Given the description of an element on the screen output the (x, y) to click on. 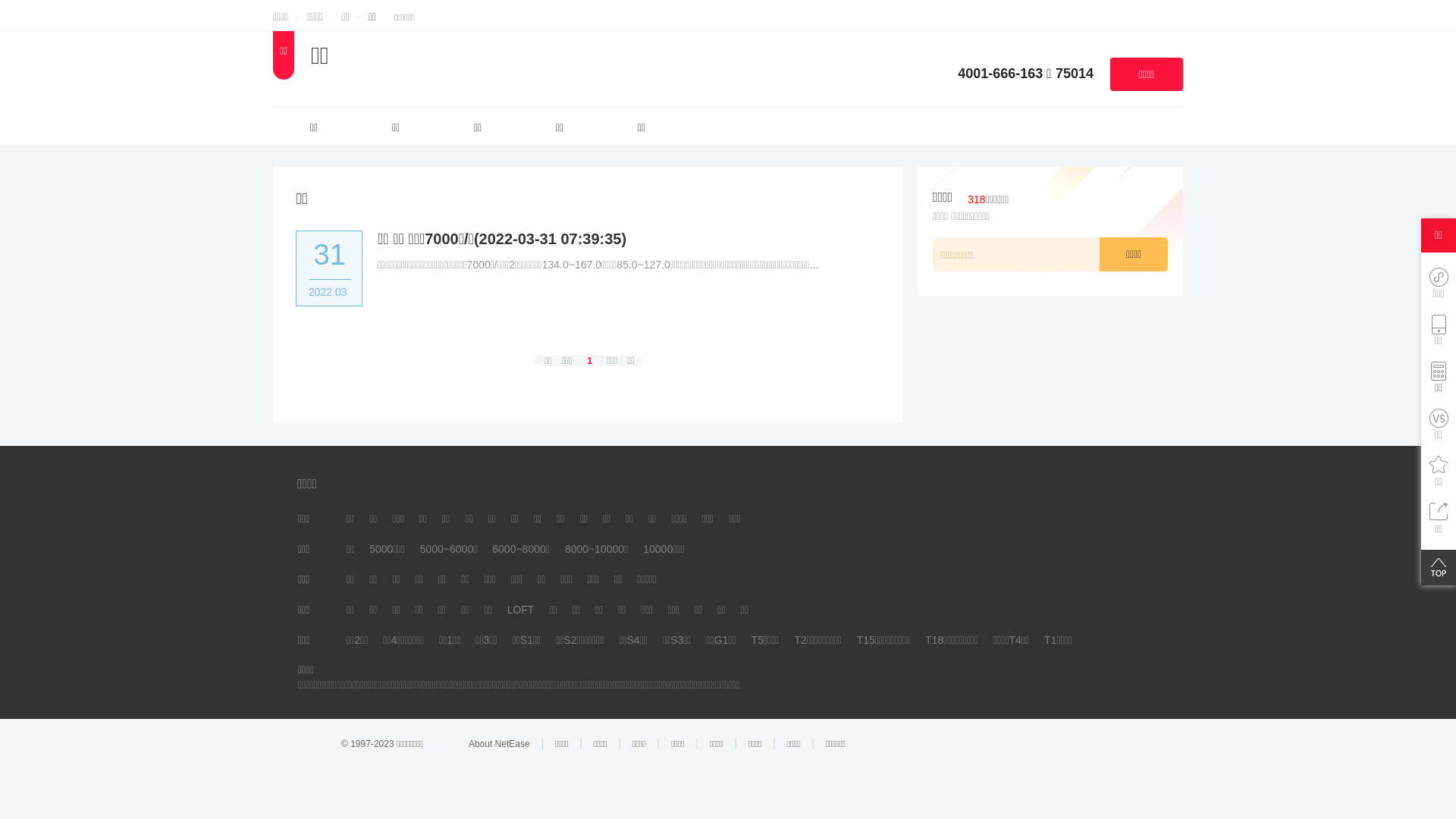
About NetEase Element type: text (499, 743)
